Given the description of an element on the screen output the (x, y) to click on. 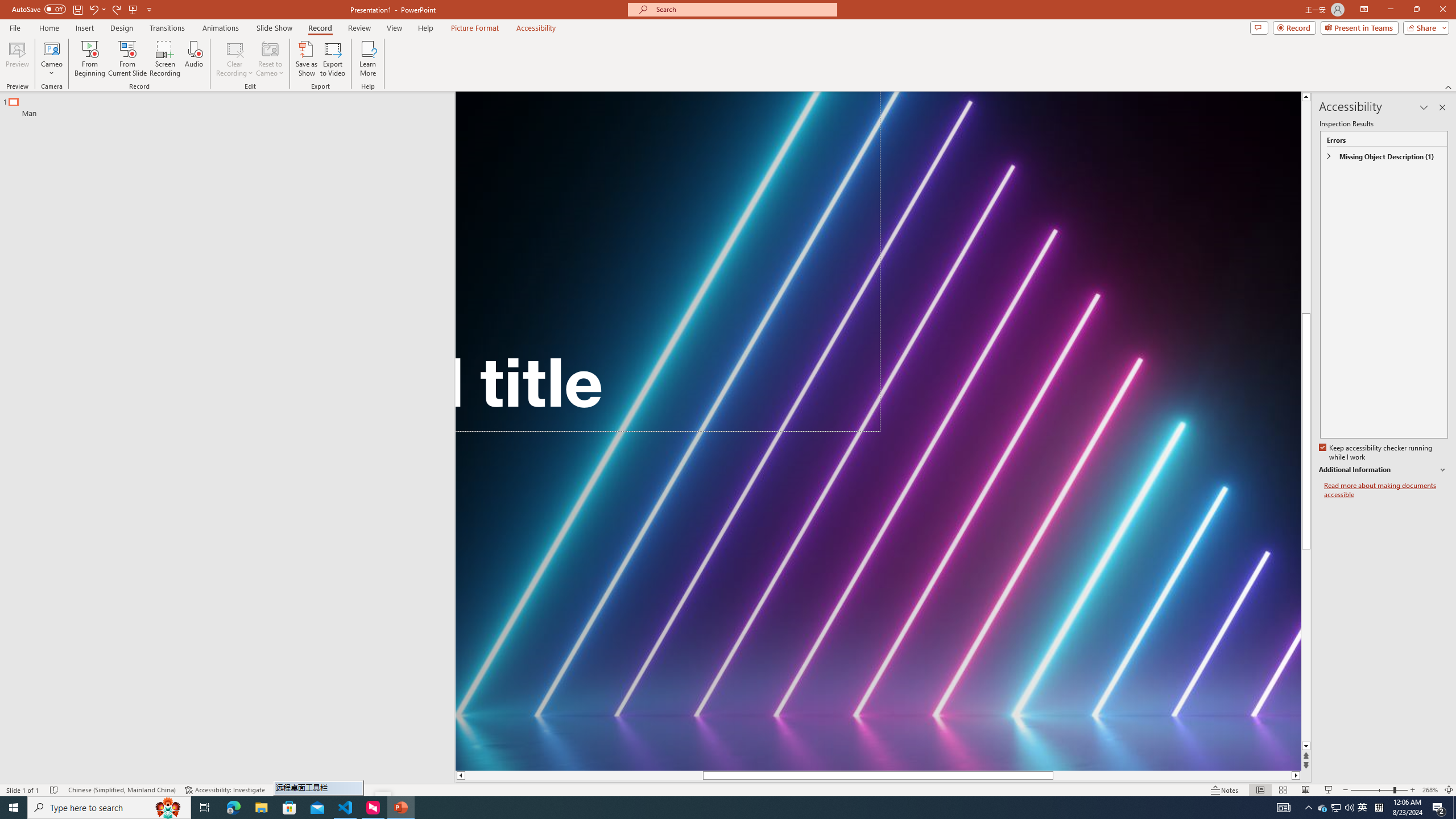
File Tab (15, 27)
Export to Video (332, 58)
Spell Check No Errors (54, 790)
Quick Access Toolbar (82, 9)
Zoom Out (1372, 790)
Accessibility Checker Accessibility: Investigate (224, 790)
Share (1423, 27)
View (395, 28)
Keep accessibility checker running while I work (1376, 452)
Animations (220, 28)
Accessibility (536, 28)
Insert (83, 28)
